Given the description of an element on the screen output the (x, y) to click on. 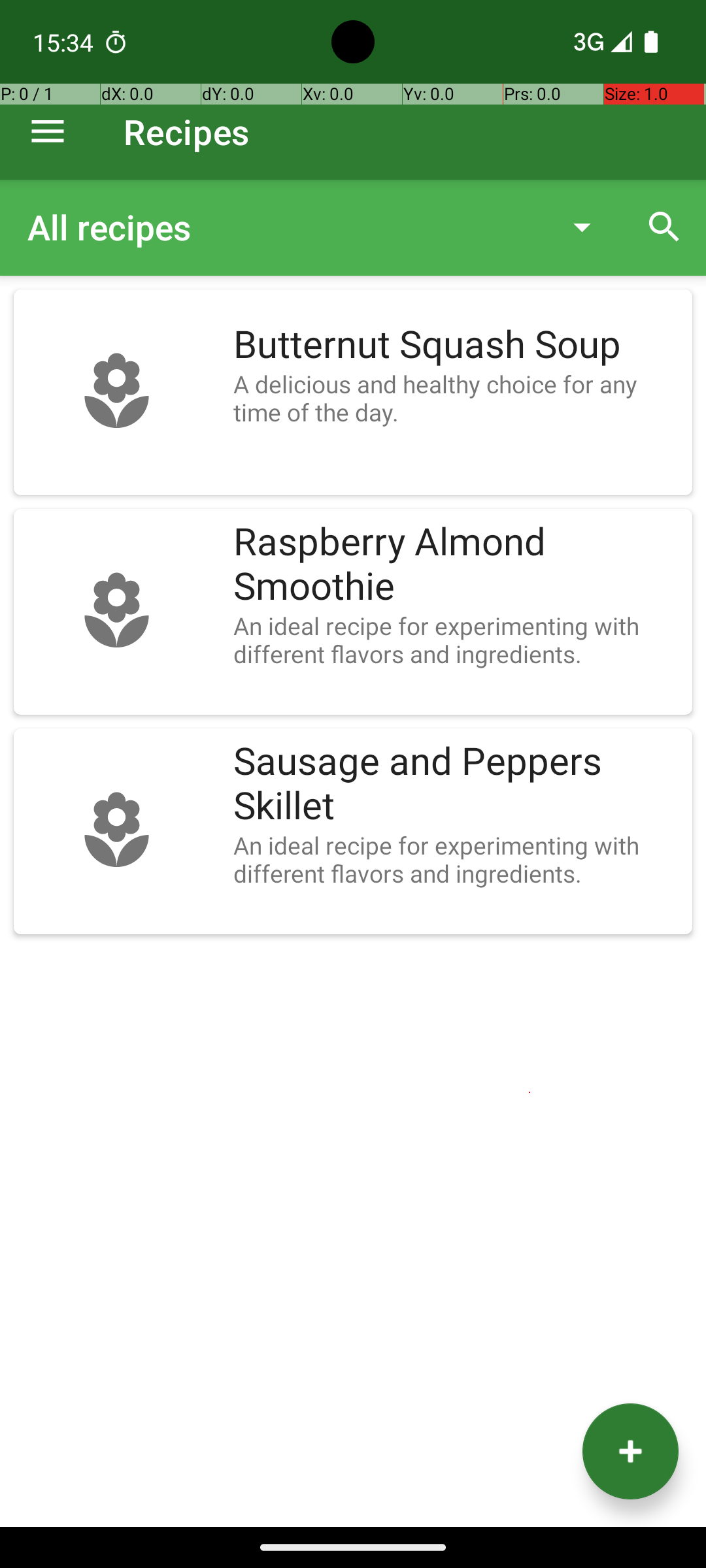
Raspberry Almond Smoothie Element type: android.widget.TextView (455, 564)
Sausage and Peppers Skillet Element type: android.widget.TextView (455, 783)
